Given the description of an element on the screen output the (x, y) to click on. 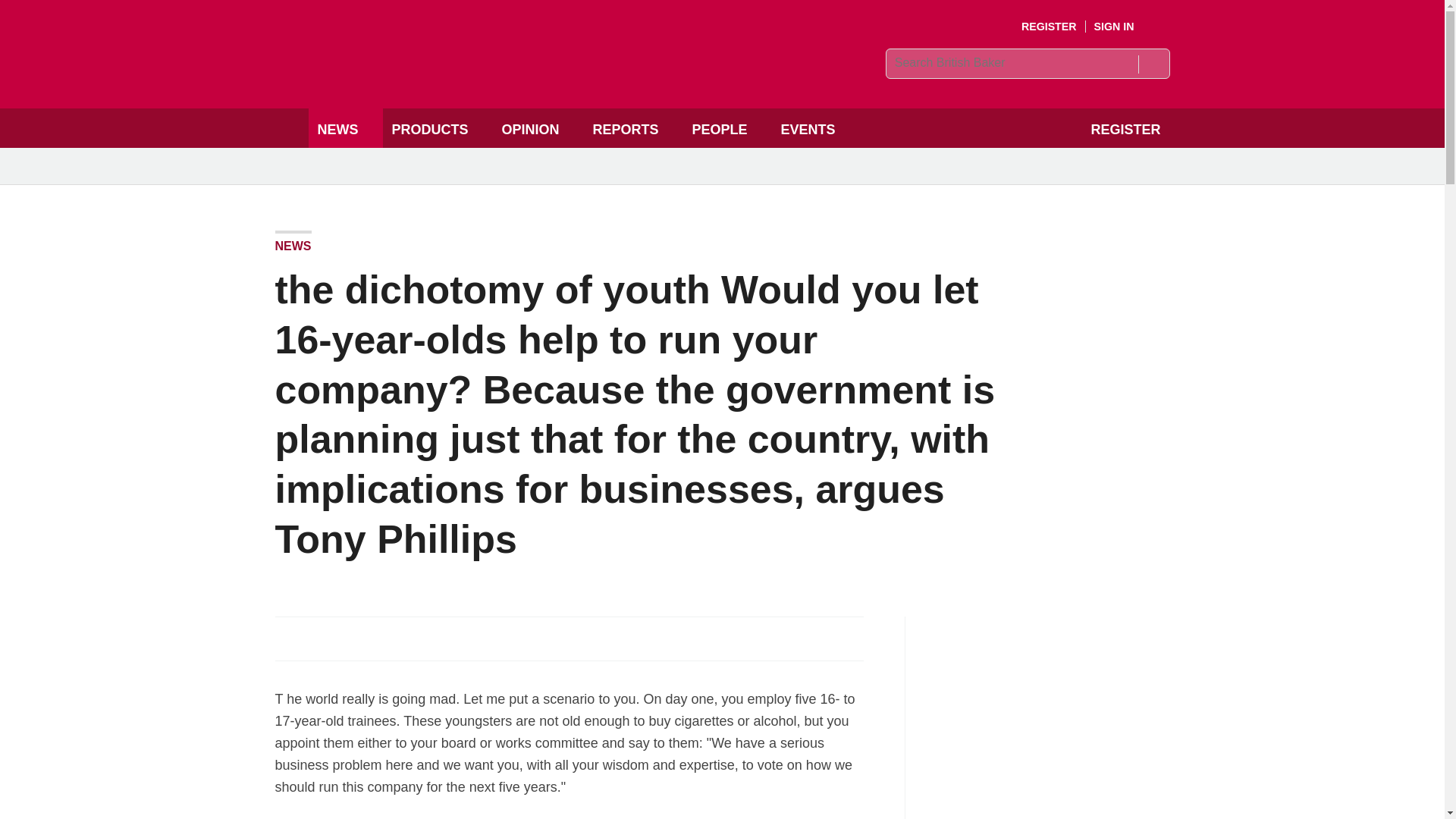
Share this on Facebook (288, 637)
SIGN IN (1125, 26)
SEARCH (1153, 63)
No comments (840, 647)
Share this on Twitter (320, 637)
REGISTER (1049, 26)
Share this on Linked in (352, 637)
Email this article (386, 637)
Site name (484, 76)
